Given the description of an element on the screen output the (x, y) to click on. 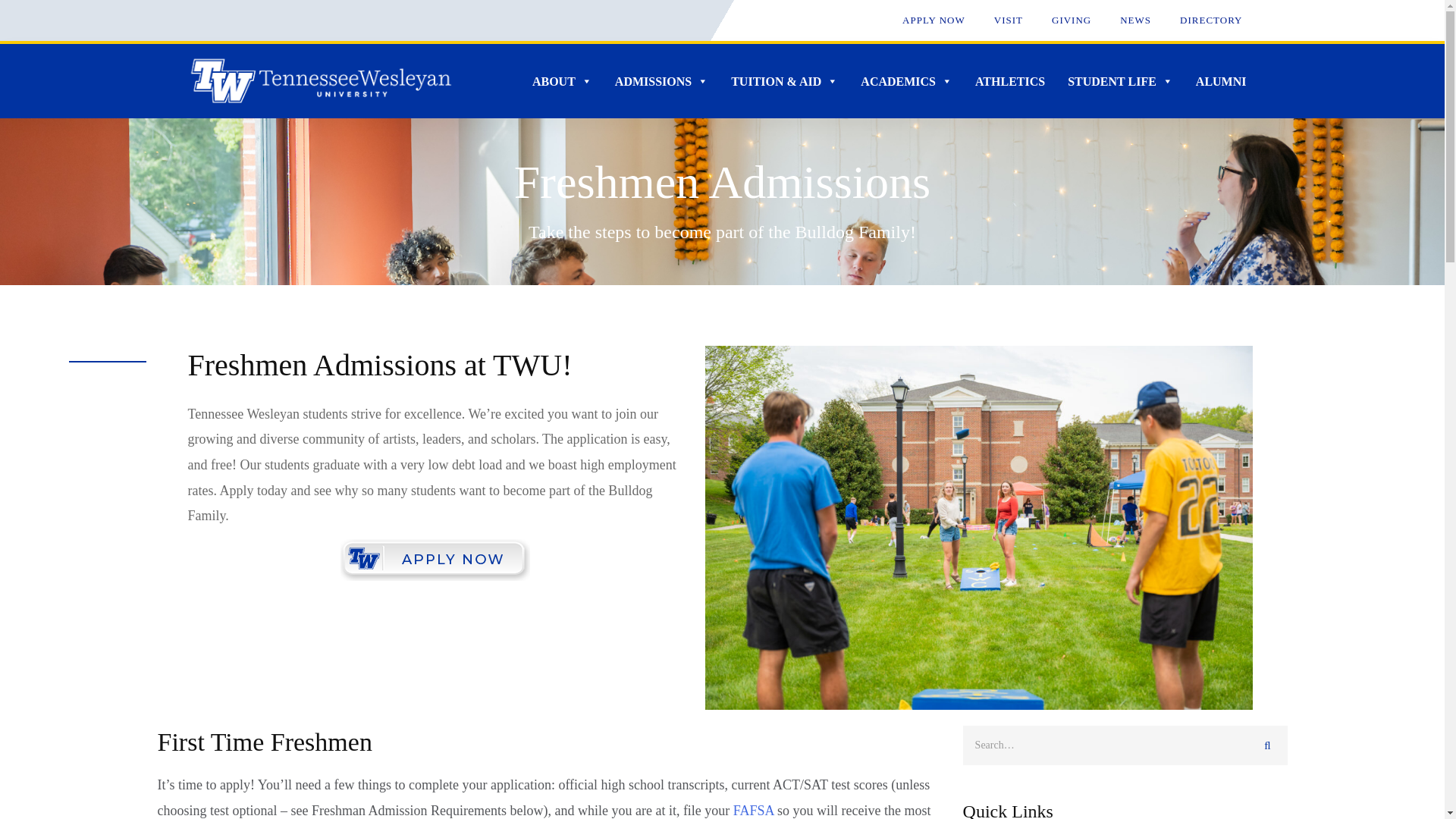
ADMISSIONS (661, 81)
GIVING (1070, 20)
Search for: (1124, 744)
DIRECTORY (1211, 20)
NEWS (1135, 20)
APPLY NOW (933, 20)
VISIT (1007, 20)
ABOUT (562, 81)
